Given the description of an element on the screen output the (x, y) to click on. 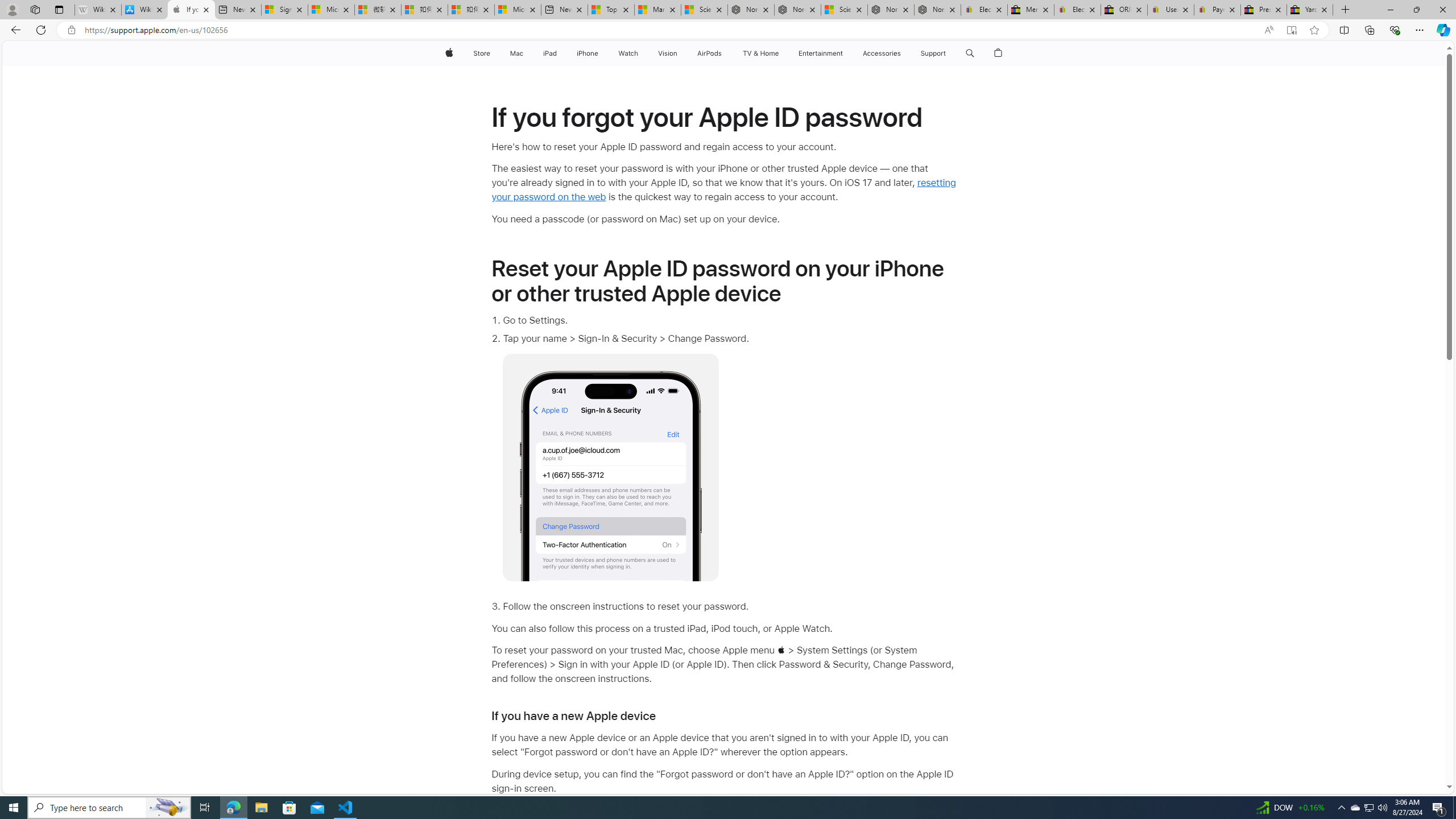
Support (932, 53)
Tap your name > Sign-In & Security > Change Password. (729, 456)
Store (481, 53)
Vision (667, 53)
Store (481, 53)
